Given the description of an element on the screen output the (x, y) to click on. 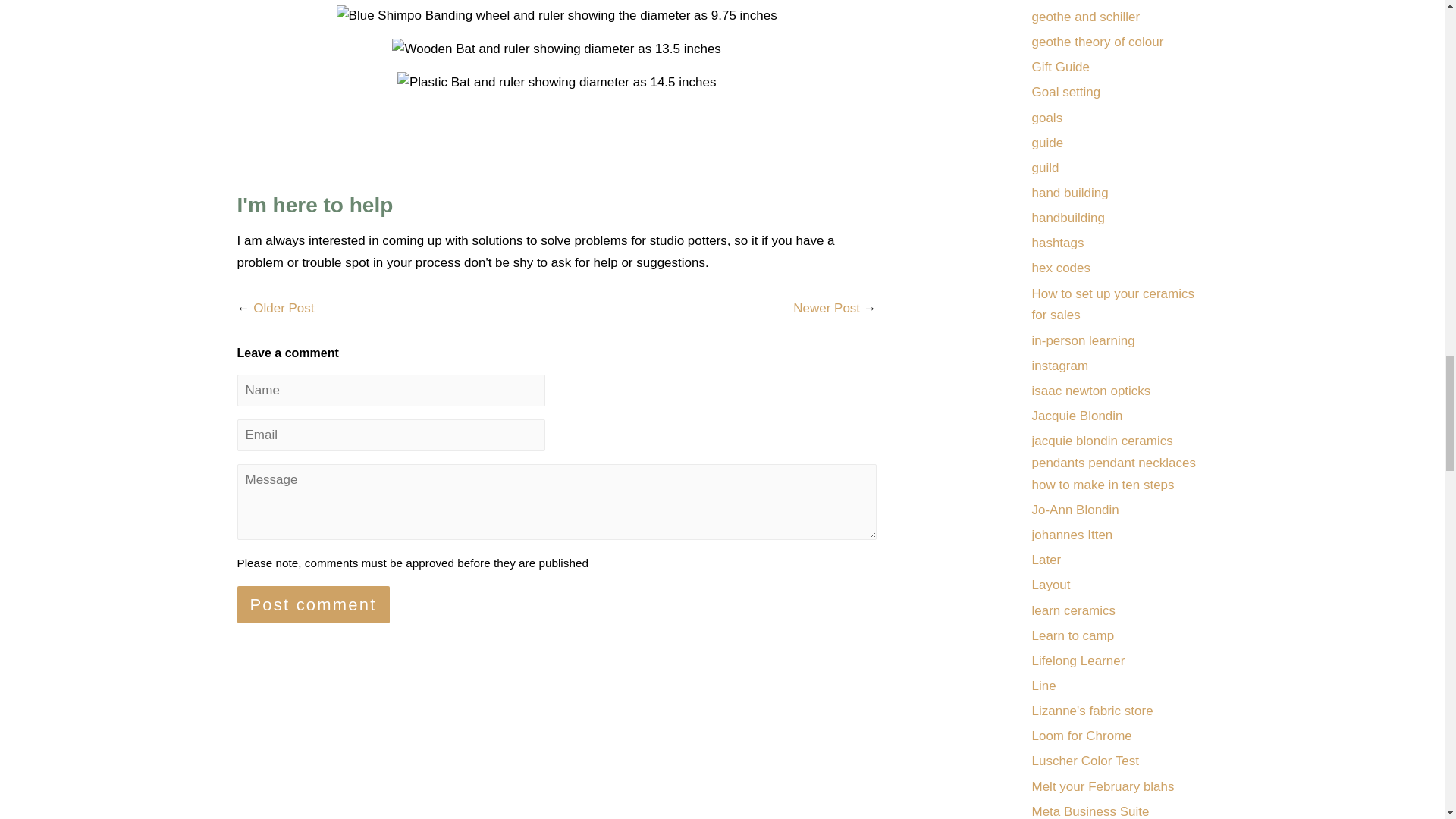
Older Post (283, 308)
Post comment (311, 604)
